Given the description of an element on the screen output the (x, y) to click on. 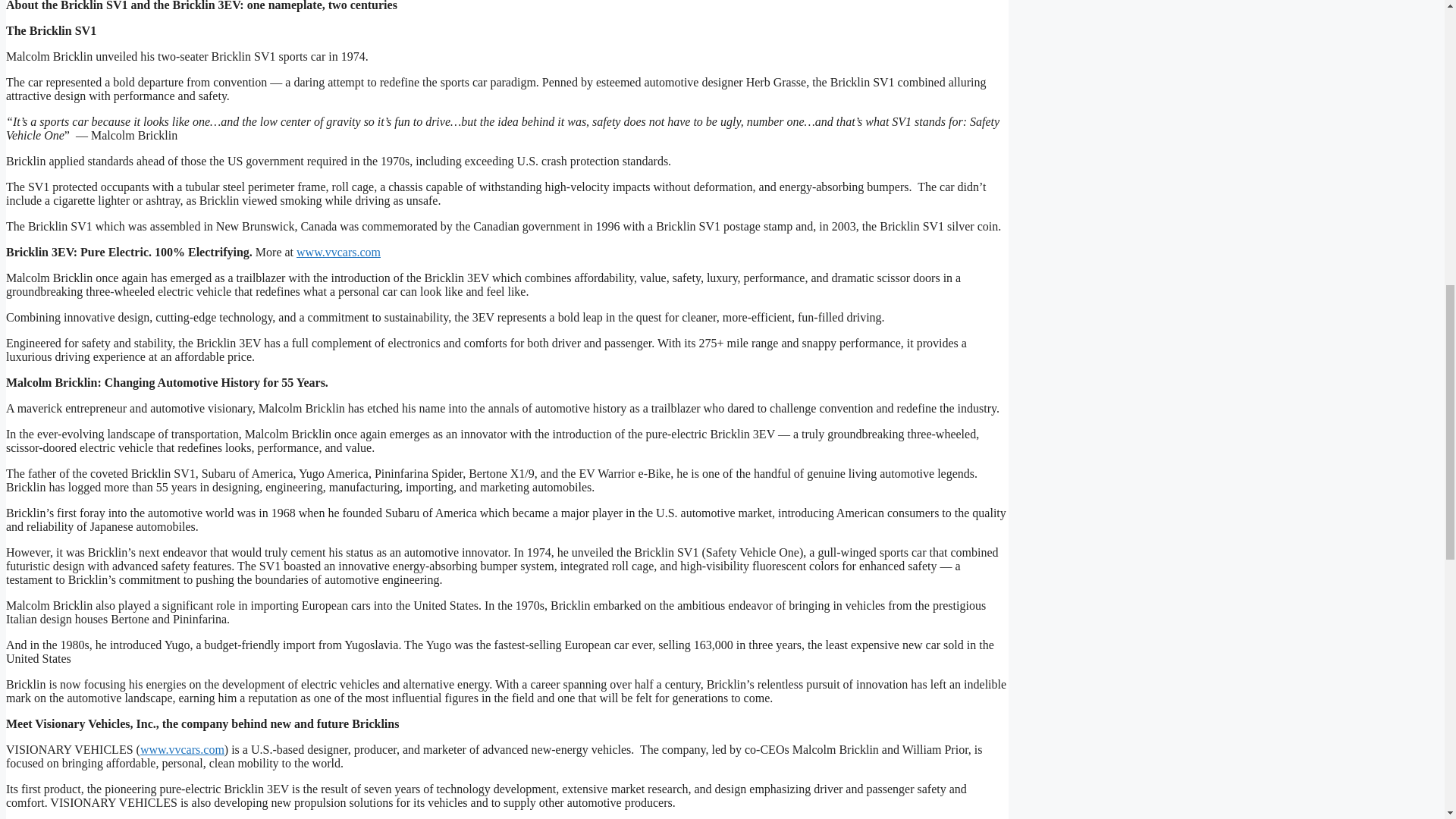
www.vvcars.com (181, 748)
www.vvcars.com (338, 251)
